Given the description of an element on the screen output the (x, y) to click on. 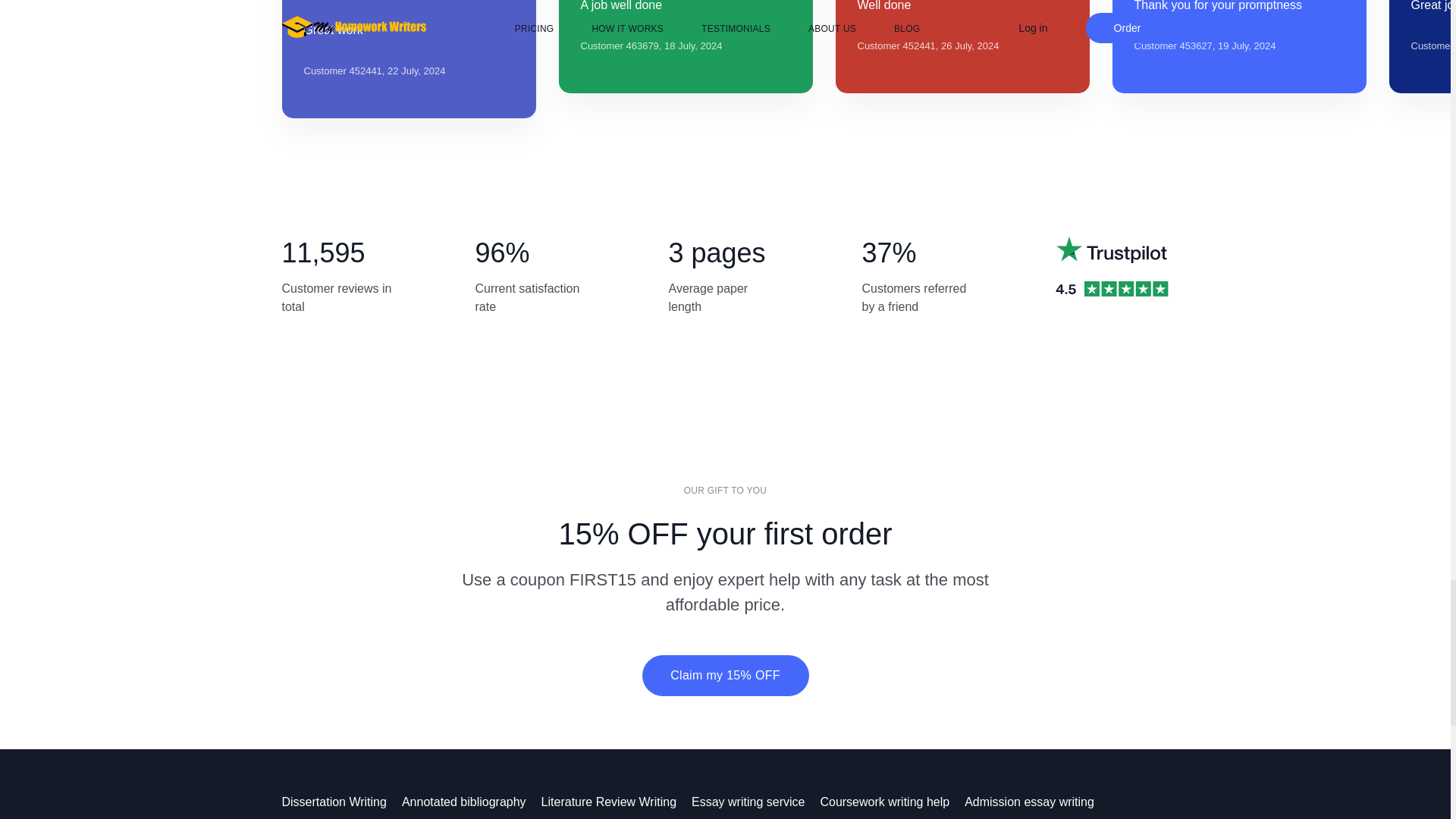
Literature Review Writing (616, 801)
Essay writing service (755, 801)
Dissertation Writing (341, 801)
Coursework writing help (891, 801)
Annotated bibliography (471, 801)
Admission essay writing (1036, 801)
